Given the description of an element on the screen output the (x, y) to click on. 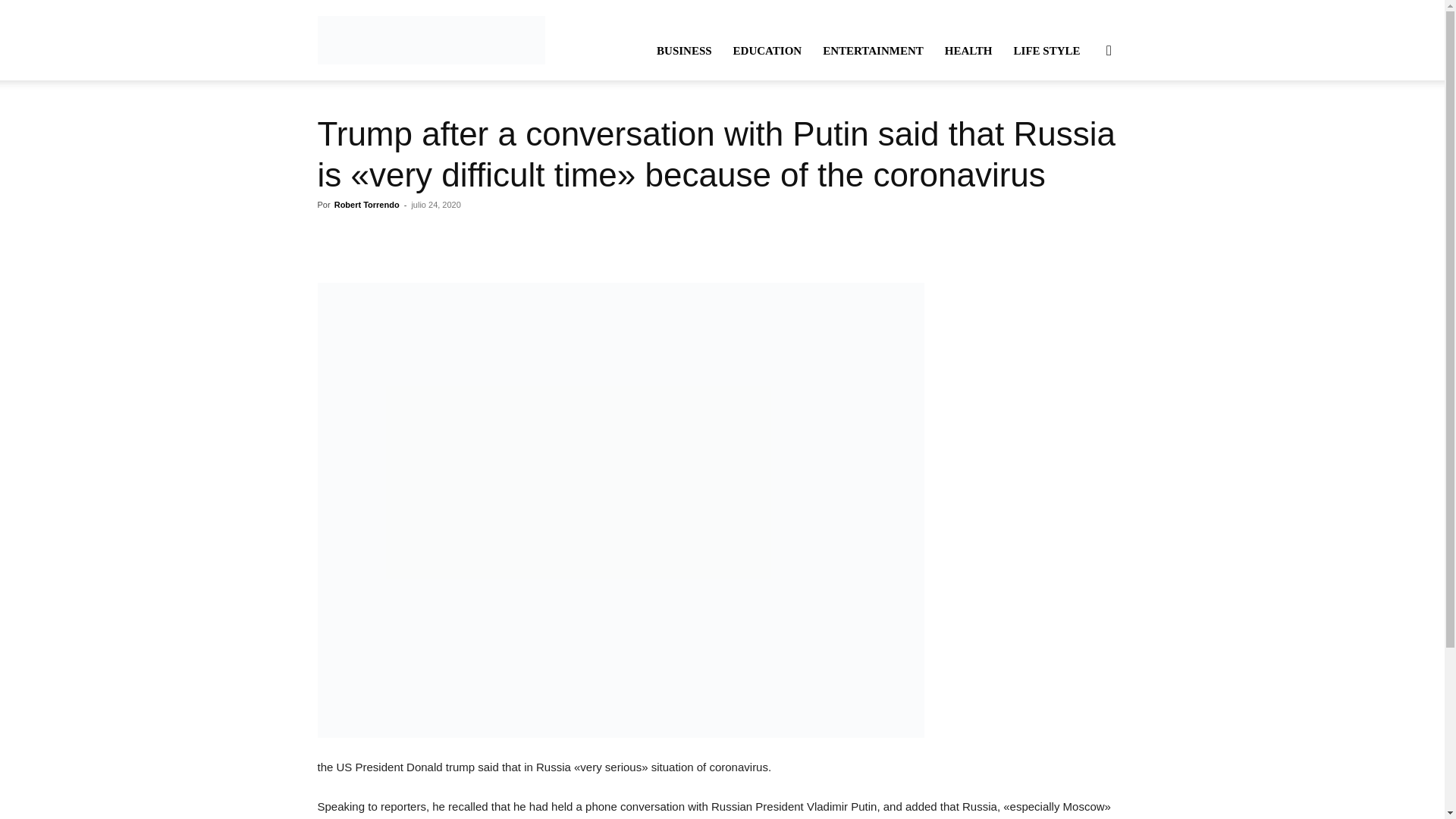
HEALTH (968, 50)
EDUCATION (767, 50)
Buscar (1085, 122)
Robert Torrendo (366, 204)
Noticias Gourmet para los Amantes del Sabor (430, 39)
BUSINESS (684, 50)
ENTERTAINMENT (873, 50)
LIFE STYLE (1046, 50)
